Given the description of an element on the screen output the (x, y) to click on. 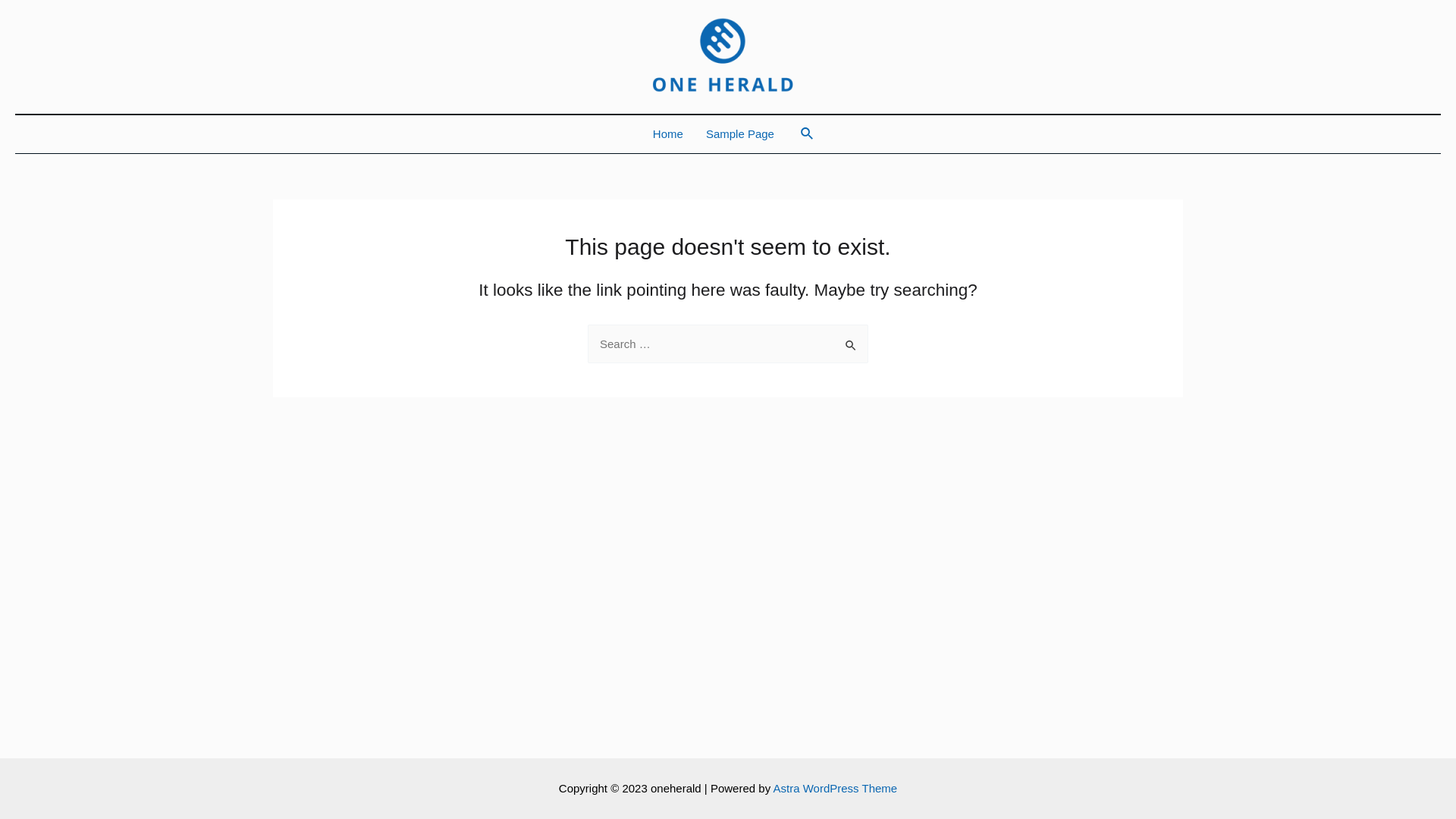
Home Element type: text (667, 134)
Search Element type: text (851, 339)
Search Element type: text (807, 134)
Astra WordPress Theme Element type: text (834, 787)
Sample Page Element type: text (739, 134)
